Given the description of an element on the screen output the (x, y) to click on. 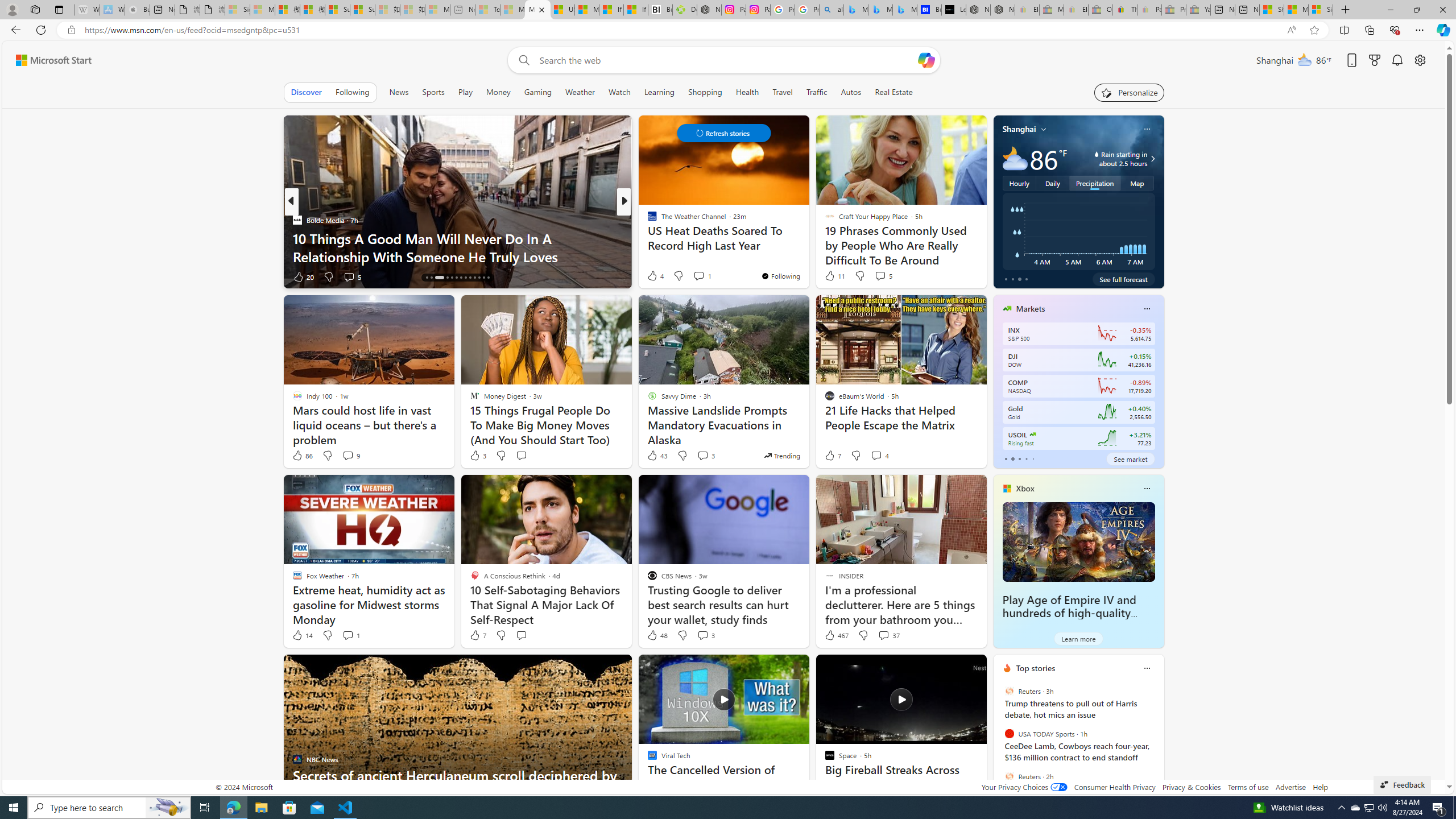
View comments 2 Comment (702, 276)
Learning (659, 92)
Daily (1052, 183)
View comments 37 Comment (883, 635)
13 Like (652, 276)
14 Quiet Ways People Get Revenge (807, 256)
MSNBC (647, 219)
11 Like (834, 275)
7 Like (477, 634)
Learn more (1078, 638)
Descarga Driver Updater (684, 9)
Health (746, 92)
